Given the description of an element on the screen output the (x, y) to click on. 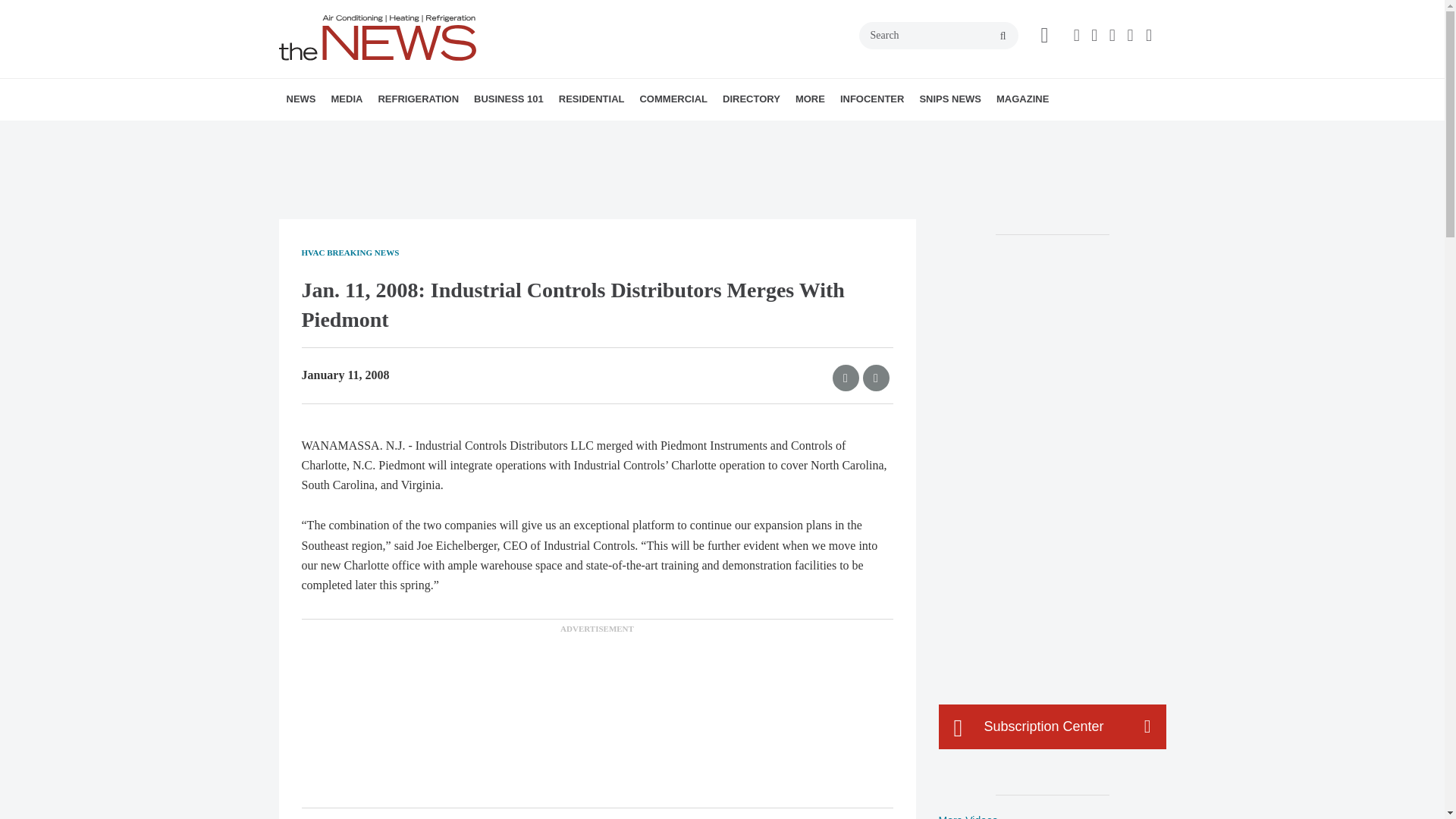
PODCASTS (430, 132)
MEDIA (346, 98)
NEWS (301, 98)
BUSINESS 101 (508, 98)
Search (938, 35)
WEBINARS (436, 132)
HVAC DATA (391, 132)
ONLINE POLL (452, 132)
FROSTLINES (478, 132)
DUCTWORD PUZZLE (449, 132)
